Given the description of an element on the screen output the (x, y) to click on. 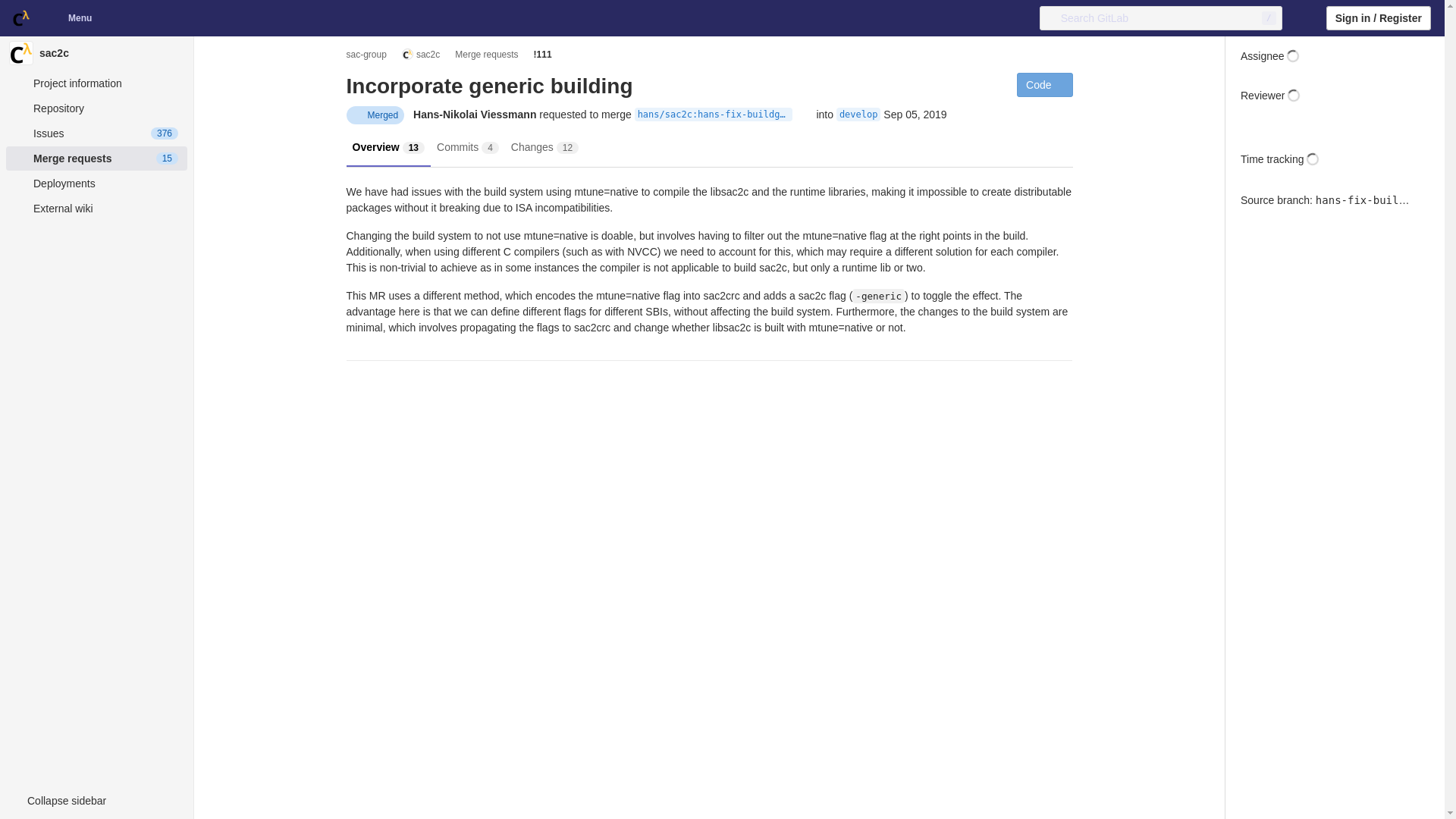
Copy branch name (1420, 199)
Menu (70, 17)
Repository (96, 108)
Help (1303, 17)
Dashboard (20, 18)
Sep 5, 2019 4:22pm (914, 114)
Project information (96, 83)
Copy branch name (803, 115)
